Given the description of an element on the screen output the (x, y) to click on. 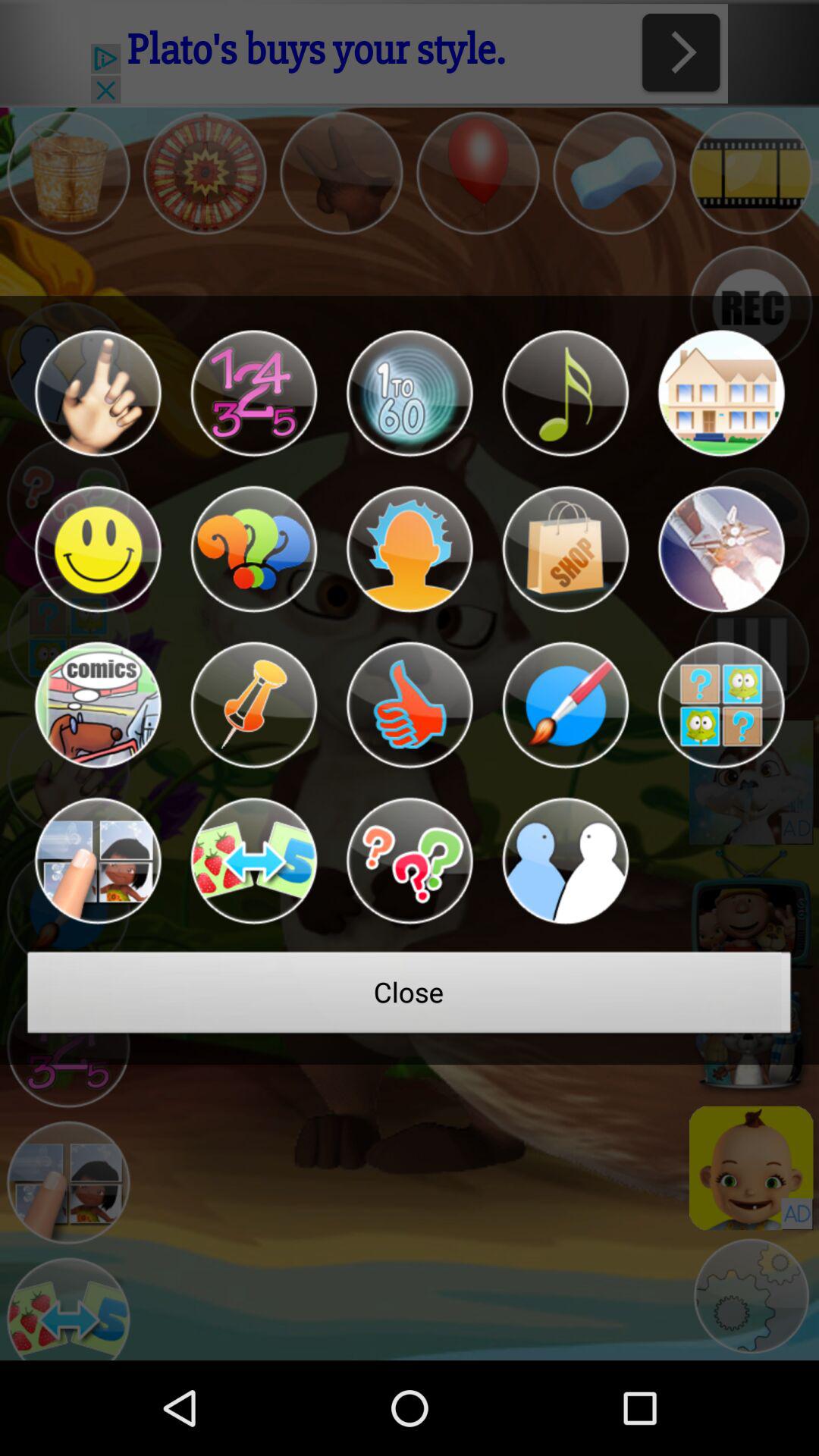
praise (409, 705)
